Given the description of an element on the screen output the (x, y) to click on. 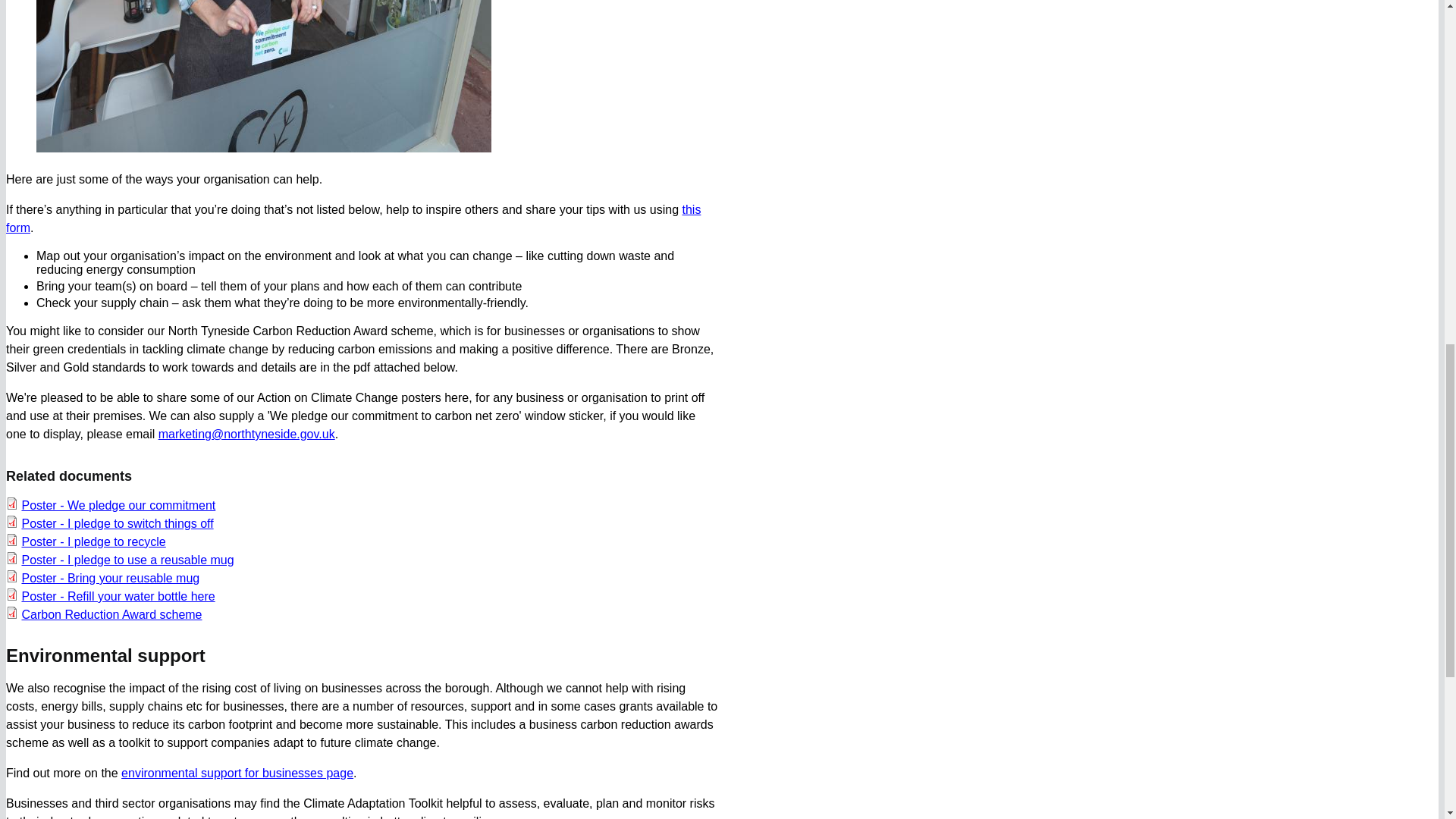
Carbon Reduction Award scheme (111, 614)
Poster - Refill your water bottle here (117, 595)
Poster - Bring your reusable mug (110, 577)
Poster - I pledge to recycle (93, 541)
Poster - I pledge to use a reusable mug (126, 559)
Poster - We pledge our commitment (118, 504)
Poster - I pledge to switch things off (116, 522)
this form (352, 218)
environmental support for businesses page (236, 772)
